Given the description of an element on the screen output the (x, y) to click on. 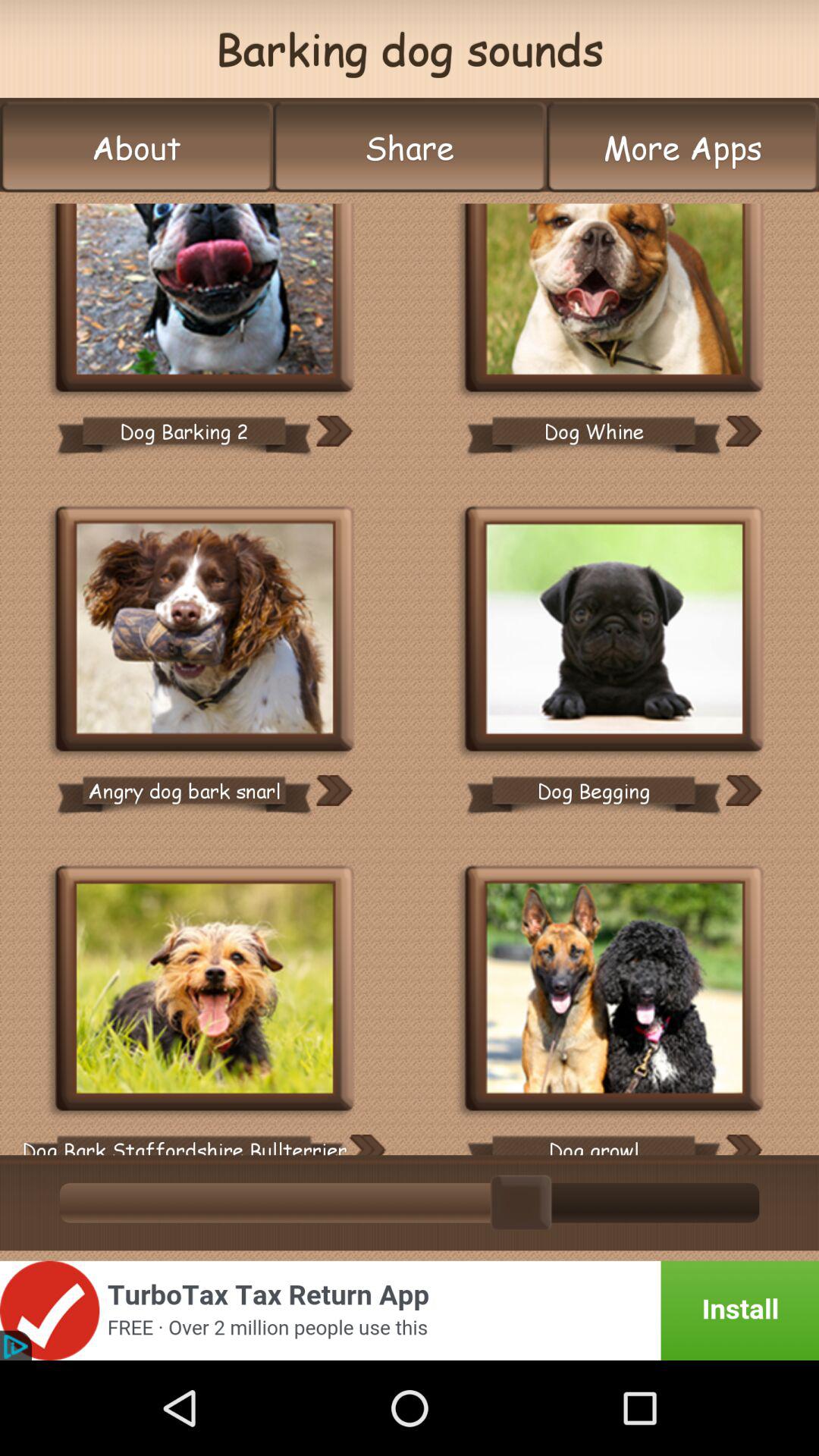
go to the next (743, 430)
